Given the description of an element on the screen output the (x, y) to click on. 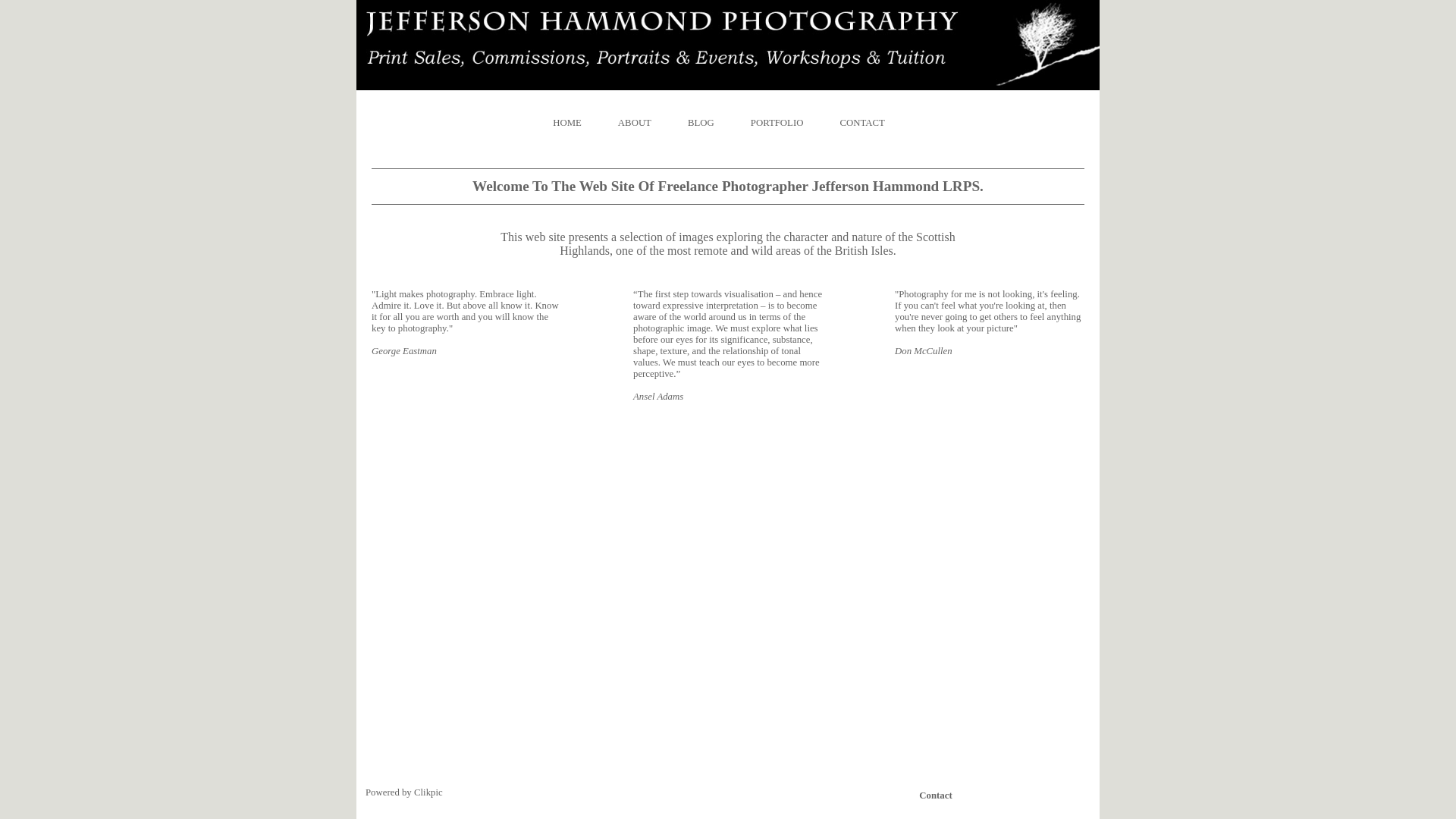
BLOG (700, 123)
Clikpic (427, 792)
Contact (936, 795)
ABOUT (634, 123)
HOME (576, 123)
CONTACT (861, 123)
PORTFOLIO (777, 123)
